Given the description of an element on the screen output the (x, y) to click on. 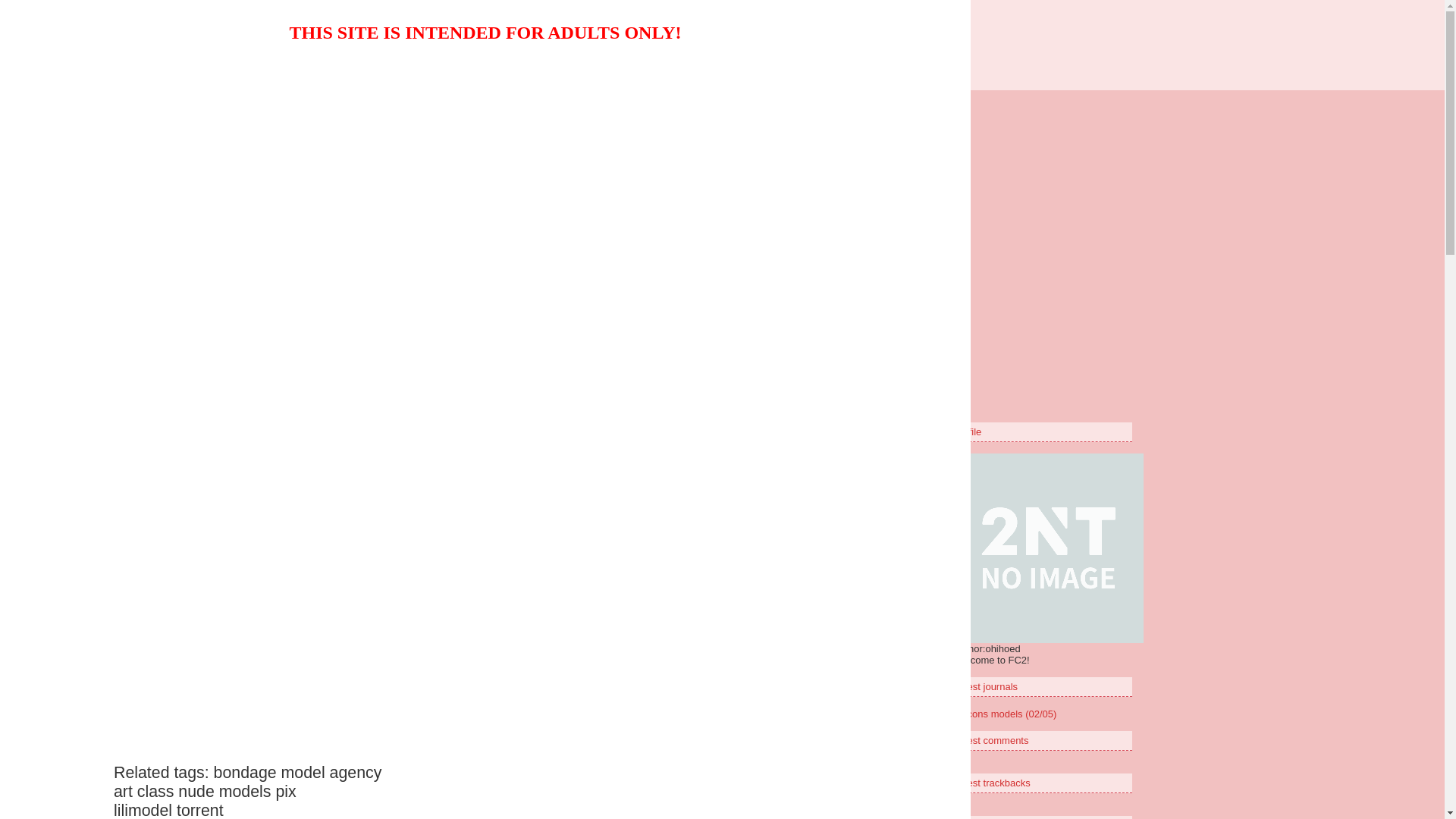
Trackbacks : 0 Element type: text (837, 194)
Flacons models Element type: text (387, 146)
Comments : 0 Element type: text (756, 194)
Flacons models (02/05) Element type: text (1005, 713)
Category: None Element type: text (671, 194)
Best cutest little young models Element type: text (721, 38)
HOME Element type: text (613, 268)
Pagetop Element type: text (874, 329)
Pagetop Element type: text (851, 234)
